Given the description of an element on the screen output the (x, y) to click on. 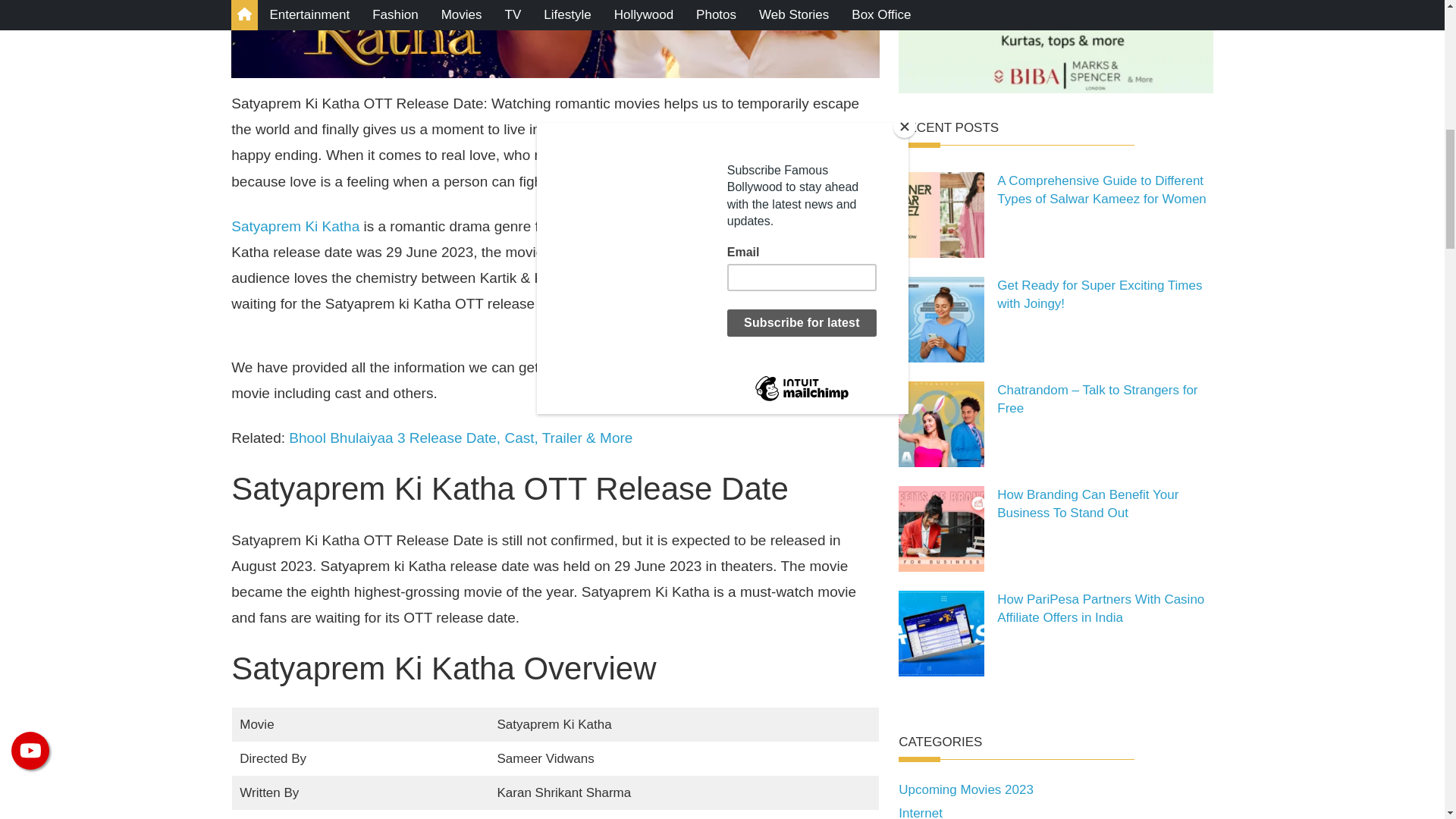
Bhool Bhulaiyaa 2 (772, 252)
Satyaprem Ki Katha (295, 226)
